Given the description of an element on the screen output the (x, y) to click on. 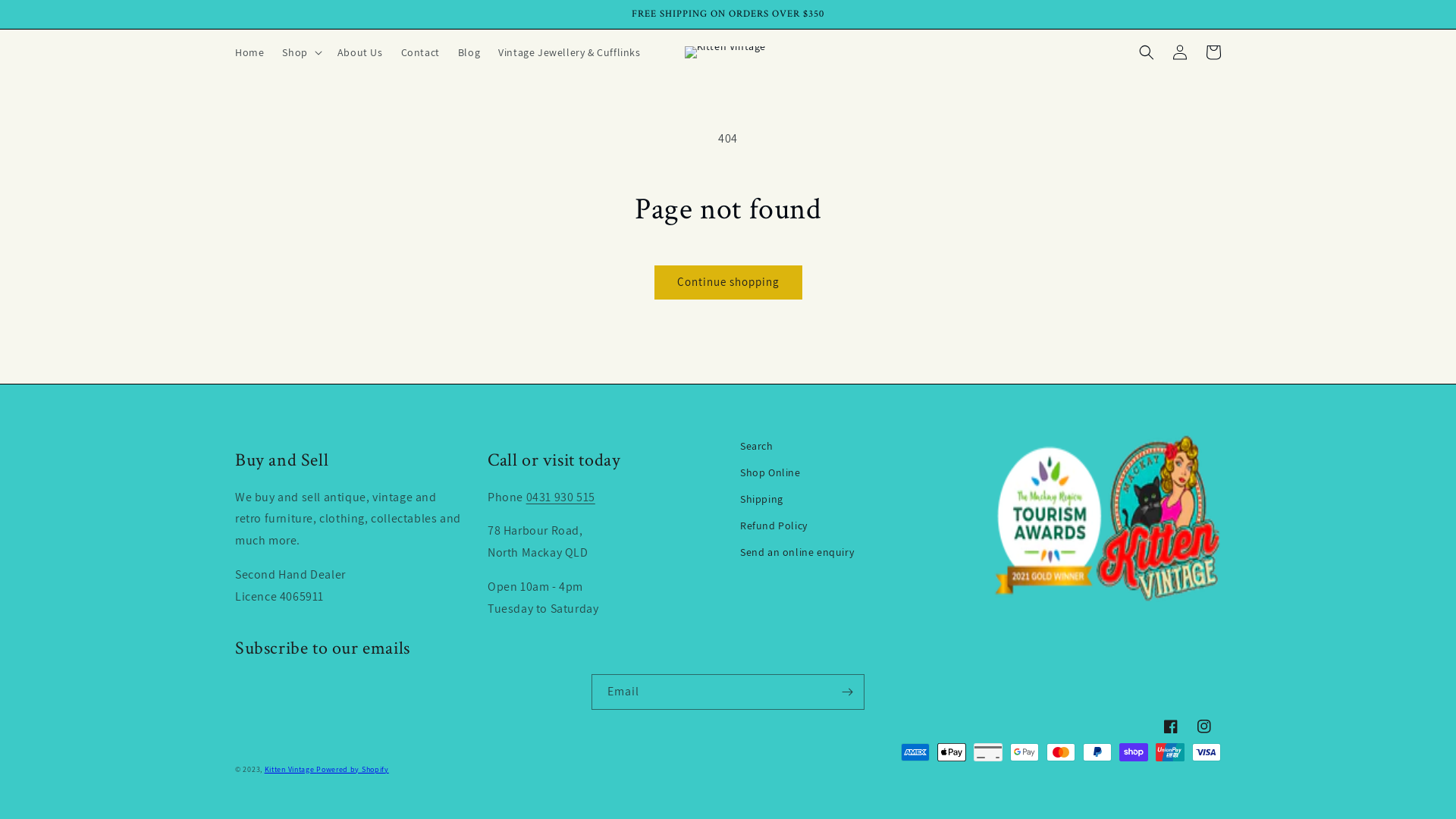
Vintage Jewellery & Cufflinks Element type: text (569, 52)
Continue shopping Element type: text (727, 282)
Kitten Vintage Element type: text (290, 769)
Powered by Shopify Element type: text (352, 769)
About Us Element type: text (360, 52)
Home Element type: text (249, 52)
Log in Element type: text (1179, 52)
Shipping Element type: text (854, 499)
Cart Element type: text (1213, 52)
0431 930 515 Element type: text (560, 497)
Shop Online Element type: text (854, 472)
Send an online enquiry Element type: text (854, 552)
Instagram Element type: text (1203, 726)
Refund Policy Element type: text (854, 525)
Facebook Element type: text (1170, 726)
Search Element type: text (854, 446)
Contact Element type: text (420, 52)
Blog Element type: text (468, 52)
